Given the description of an element on the screen output the (x, y) to click on. 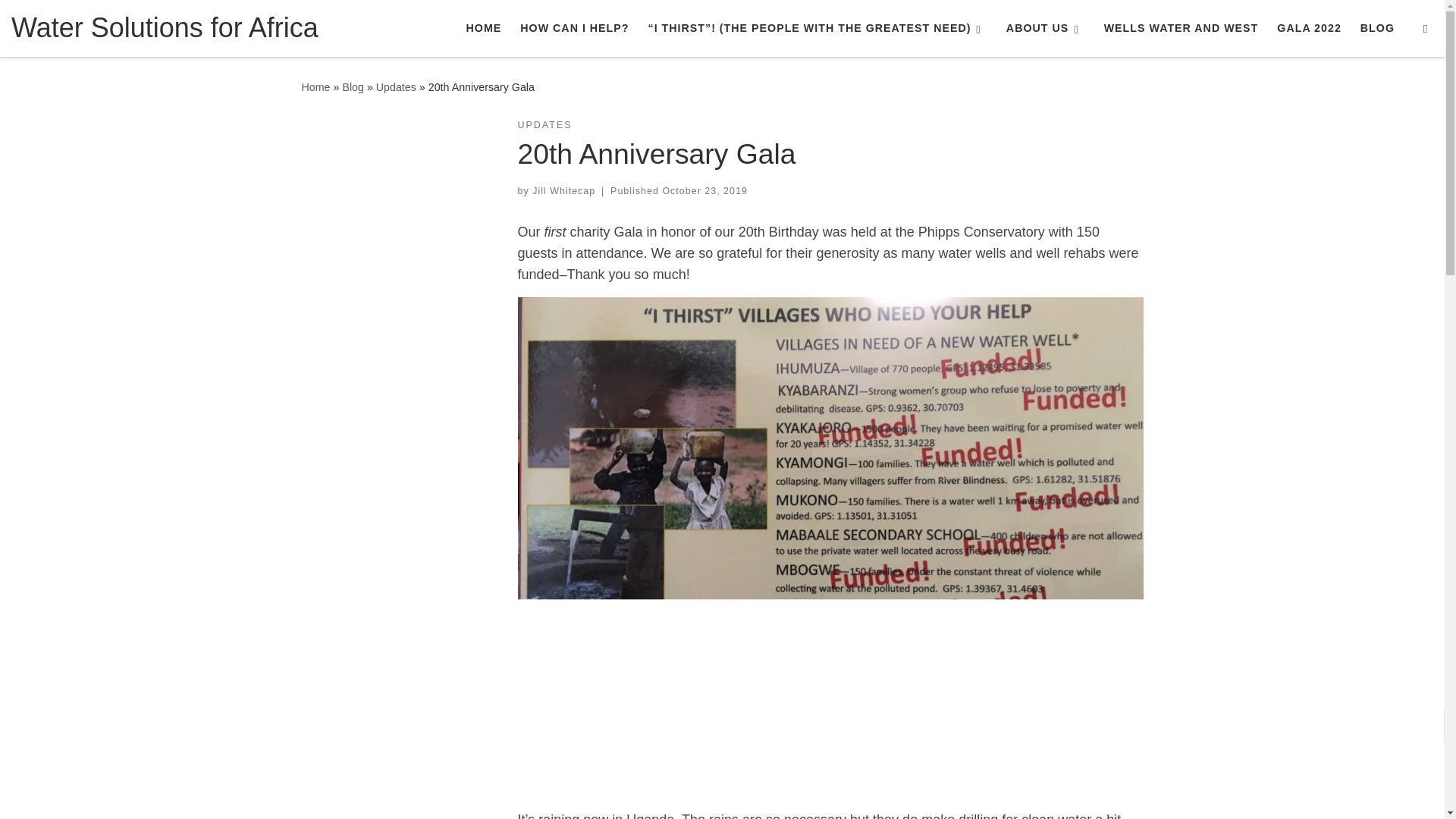
UPDATES (544, 124)
Updates (395, 87)
Updates (395, 87)
HOW CAN I HELP? (574, 28)
6:50 pm (704, 190)
BLOG (1377, 28)
Blog (353, 87)
WELLS WATER AND WEST (1180, 28)
GALA 2022 (1308, 28)
Blog (353, 87)
